Given the description of an element on the screen output the (x, y) to click on. 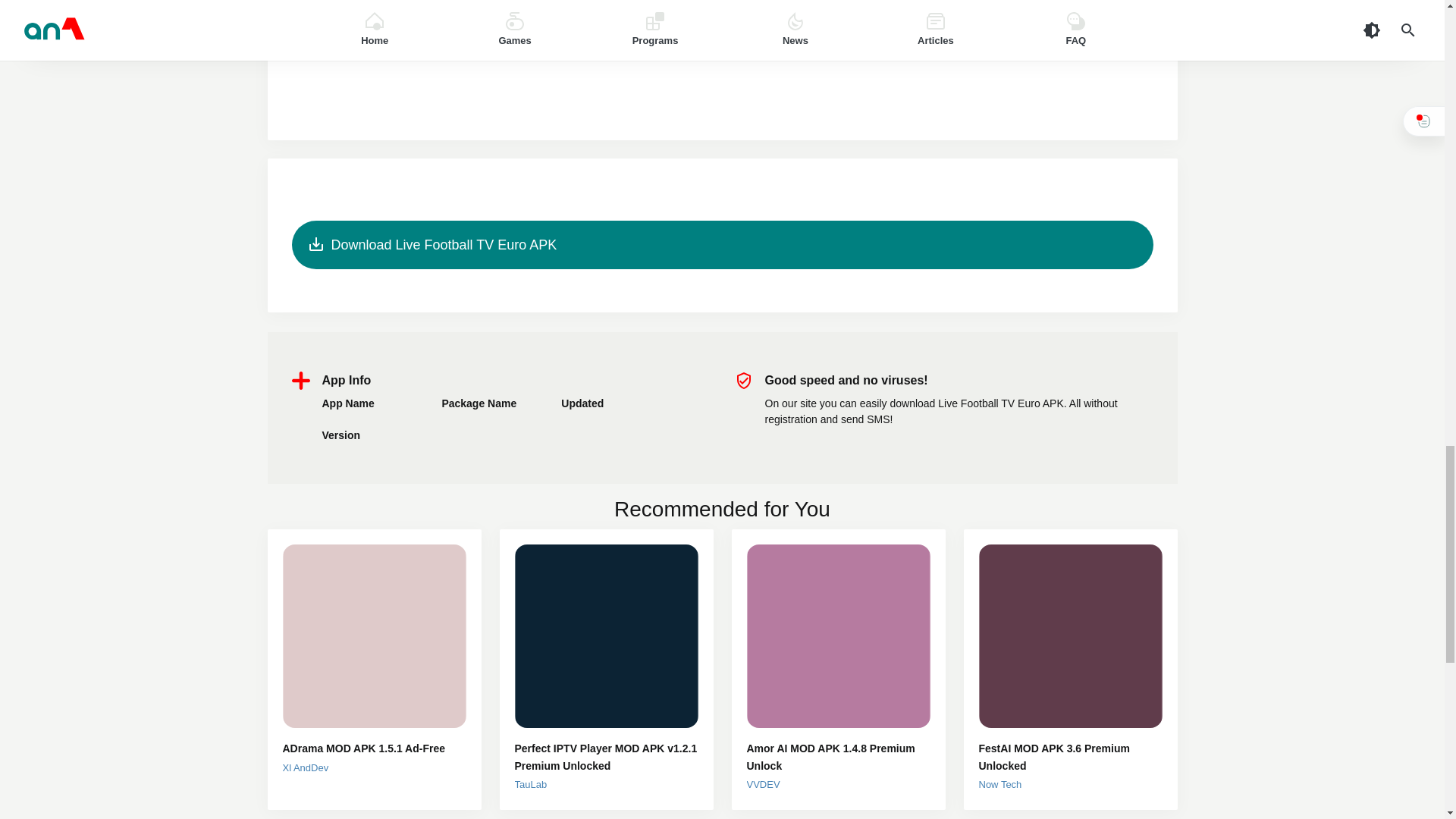
Amor AI MOD APK 1.4.8 Premium Unlock (837, 756)
Perfect IPTV Player MOD APK v1.2.1 Premium Unlocked (605, 756)
ADrama MOD APK 1.5.1 Ad-Free (373, 748)
